Given the description of an element on the screen output the (x, y) to click on. 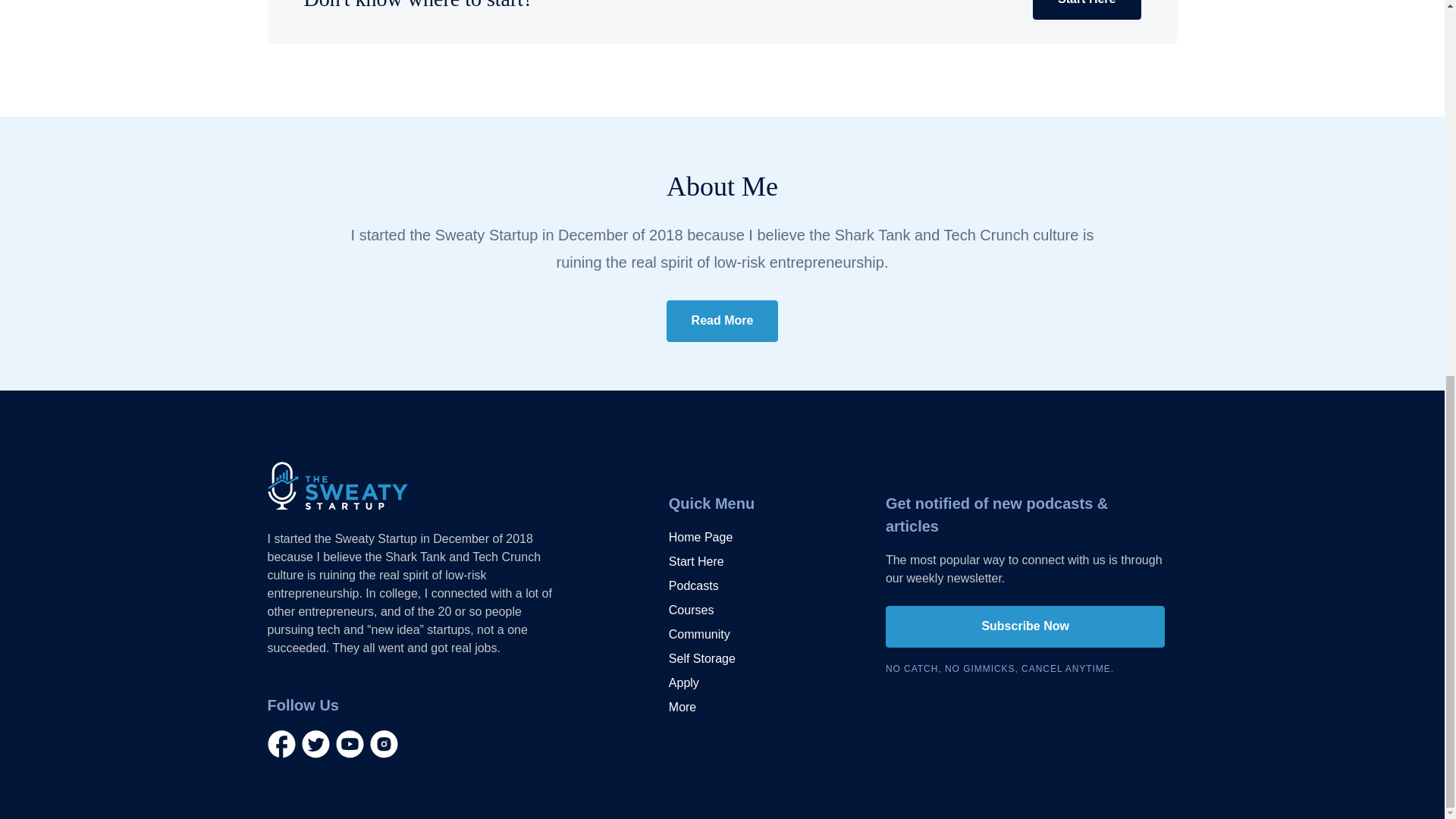
Courses (691, 610)
Podcasts (693, 586)
Home Page (700, 537)
Apply (683, 683)
Start Here (1086, 9)
Community (699, 634)
Self Storage (701, 659)
Start Here (695, 561)
Read More (722, 321)
